Given the description of an element on the screen output the (x, y) to click on. 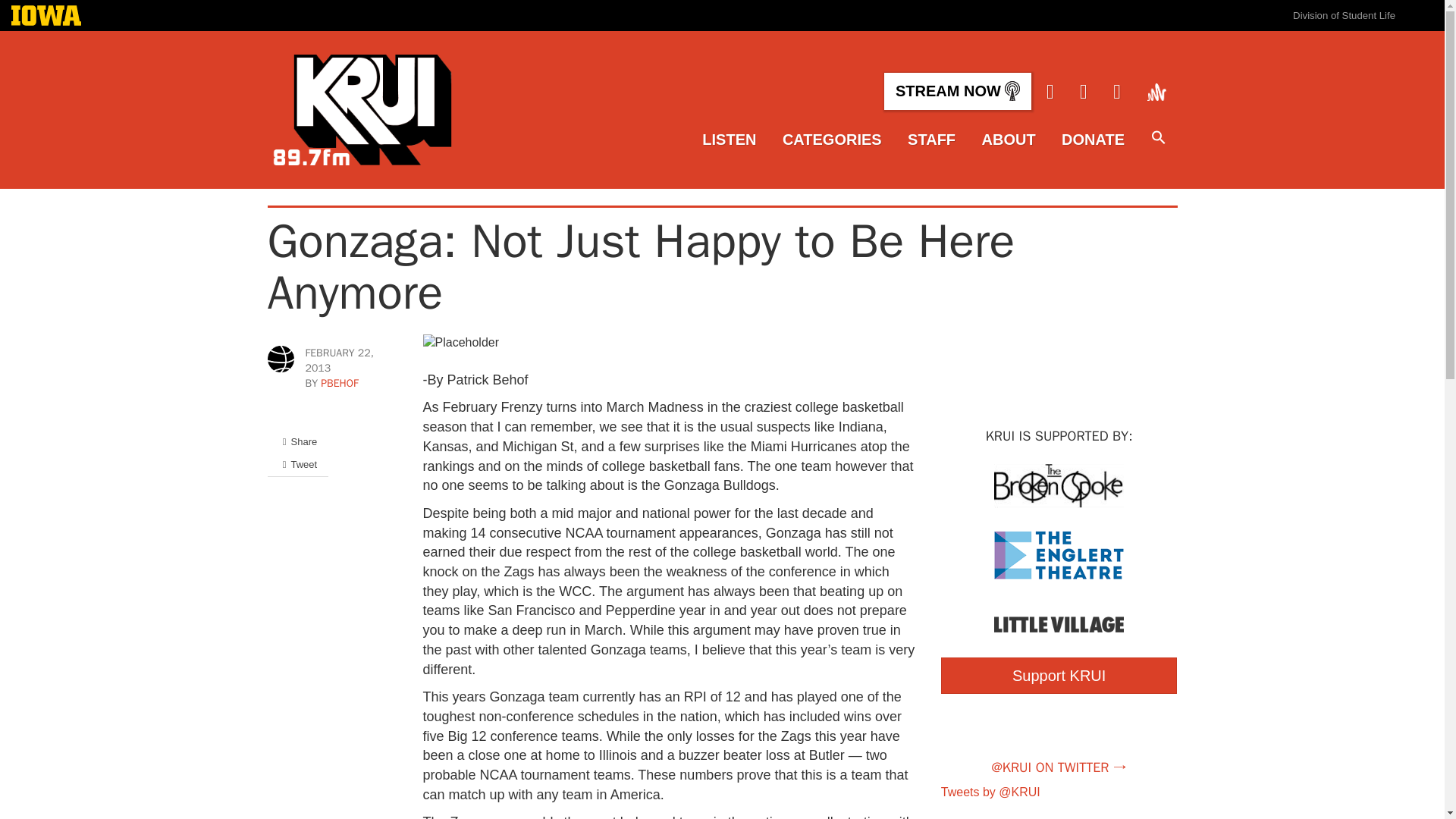
STAFF (931, 139)
The University of Iowa (46, 16)
STREAM NOW (956, 90)
Division of Student Life (1343, 15)
CATEGORIES (832, 139)
Share on Facebook (296, 441)
ABOUT (1008, 139)
LISTEN (728, 139)
Share on Twitter (296, 463)
